Given the description of an element on the screen output the (x, y) to click on. 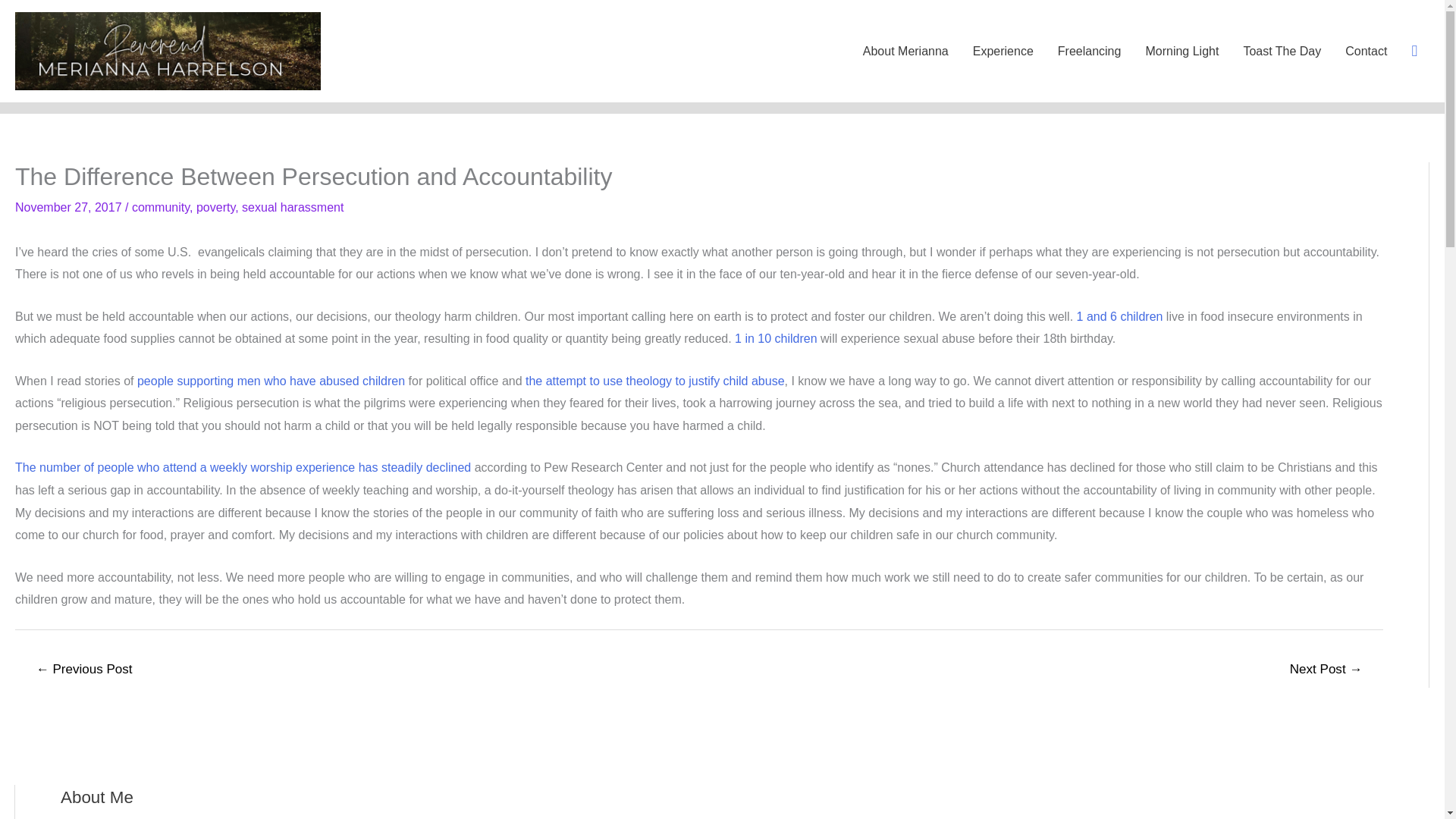
community (160, 206)
the attempt to use theology to justify child abuse (654, 380)
sexual harassment (292, 206)
people supporting men who have abused children (270, 380)
Morning Light (1181, 51)
1 and 6 children (1120, 316)
Toast The Day (1281, 51)
poverty (215, 206)
1 in 10 children (775, 338)
